Given the description of an element on the screen output the (x, y) to click on. 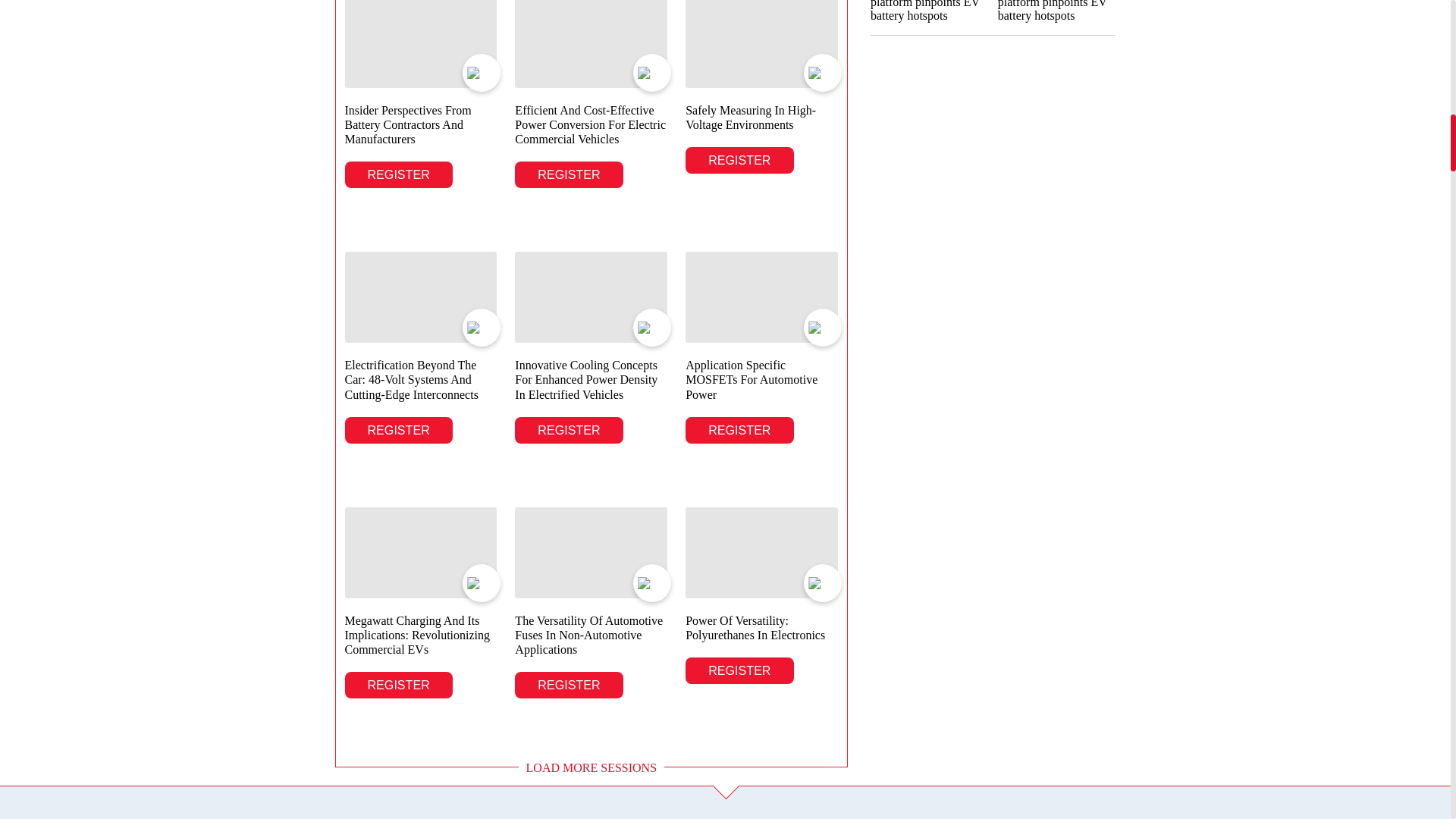
Register (397, 174)
Register (569, 174)
